Given the description of an element on the screen output the (x, y) to click on. 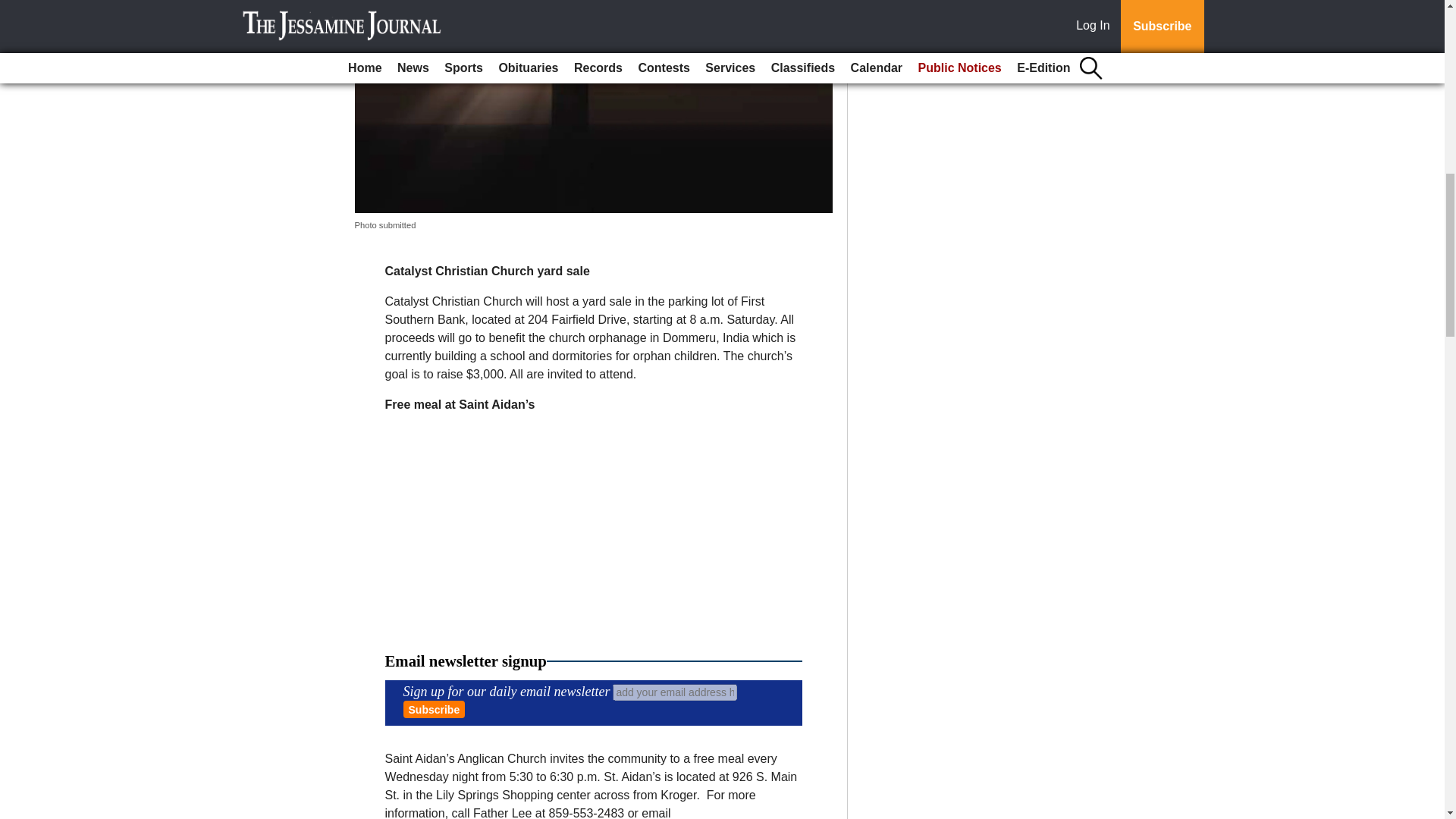
Subscribe (434, 709)
Subscribe (434, 709)
